Given the description of an element on the screen output the (x, y) to click on. 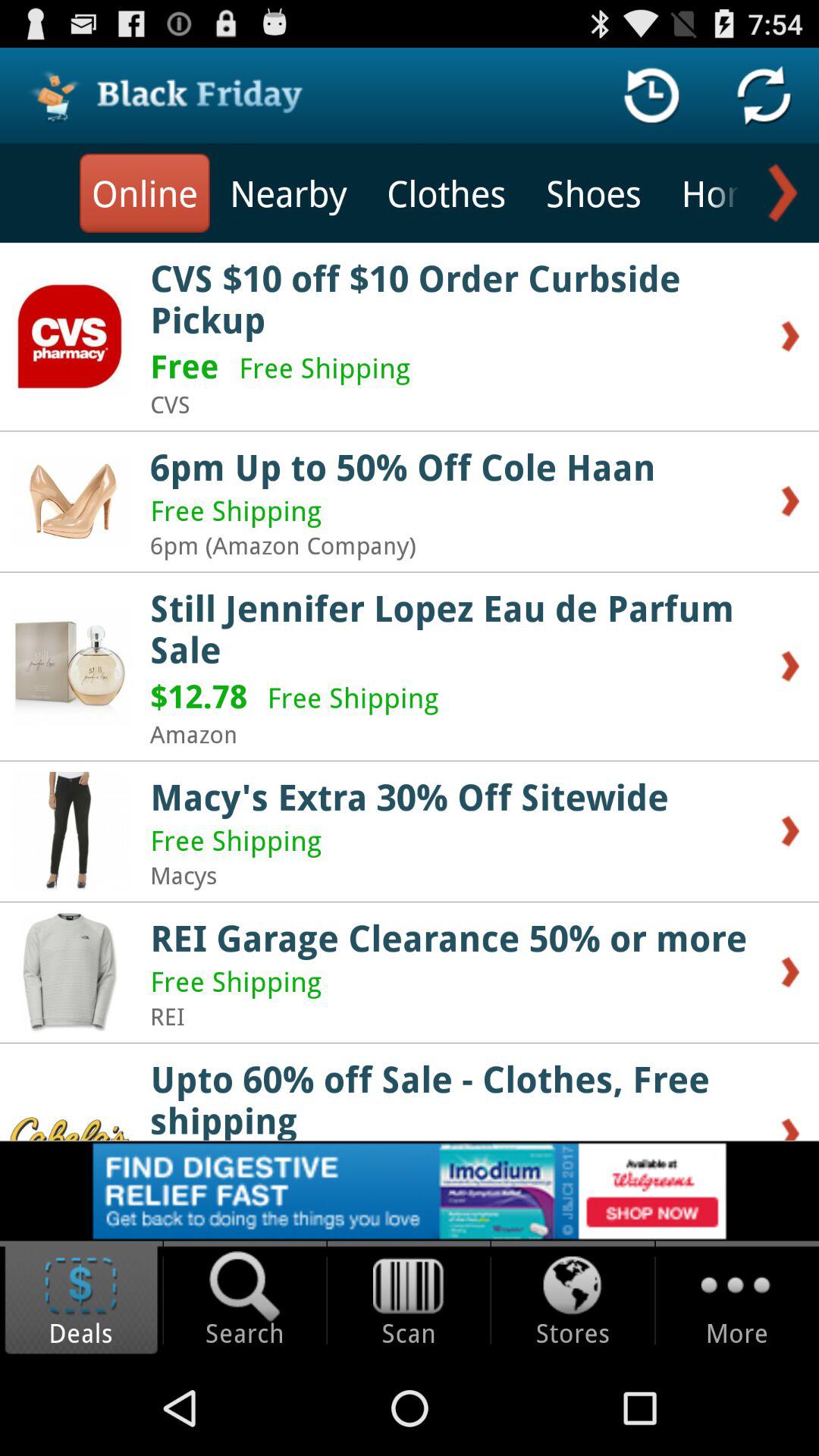
go next (779, 192)
